Given the description of an element on the screen output the (x, y) to click on. 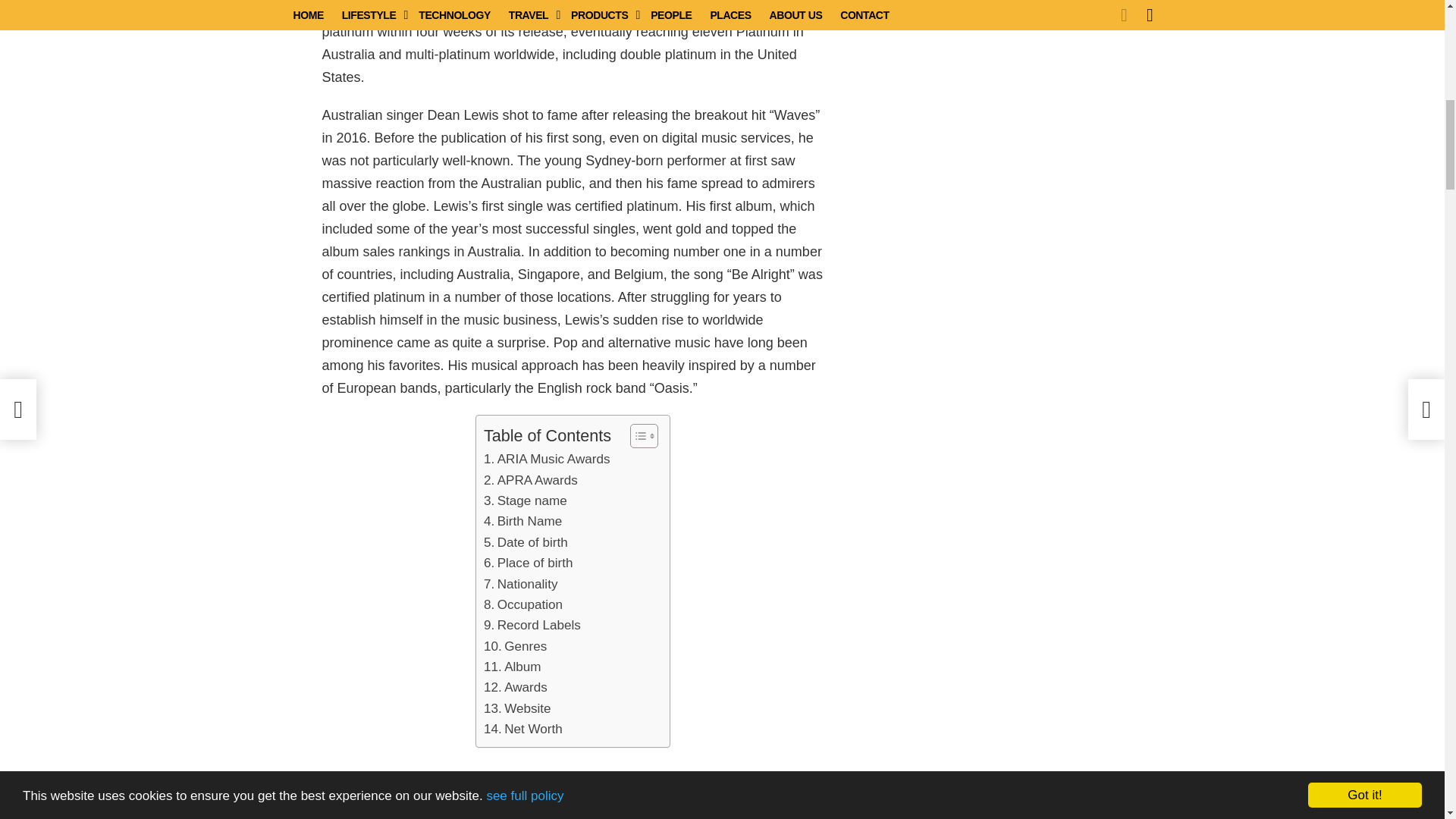
Birth Name (522, 521)
ARIA Music Awards (546, 458)
Stage name (525, 500)
APRA Awards (530, 480)
